Given the description of an element on the screen output the (x, y) to click on. 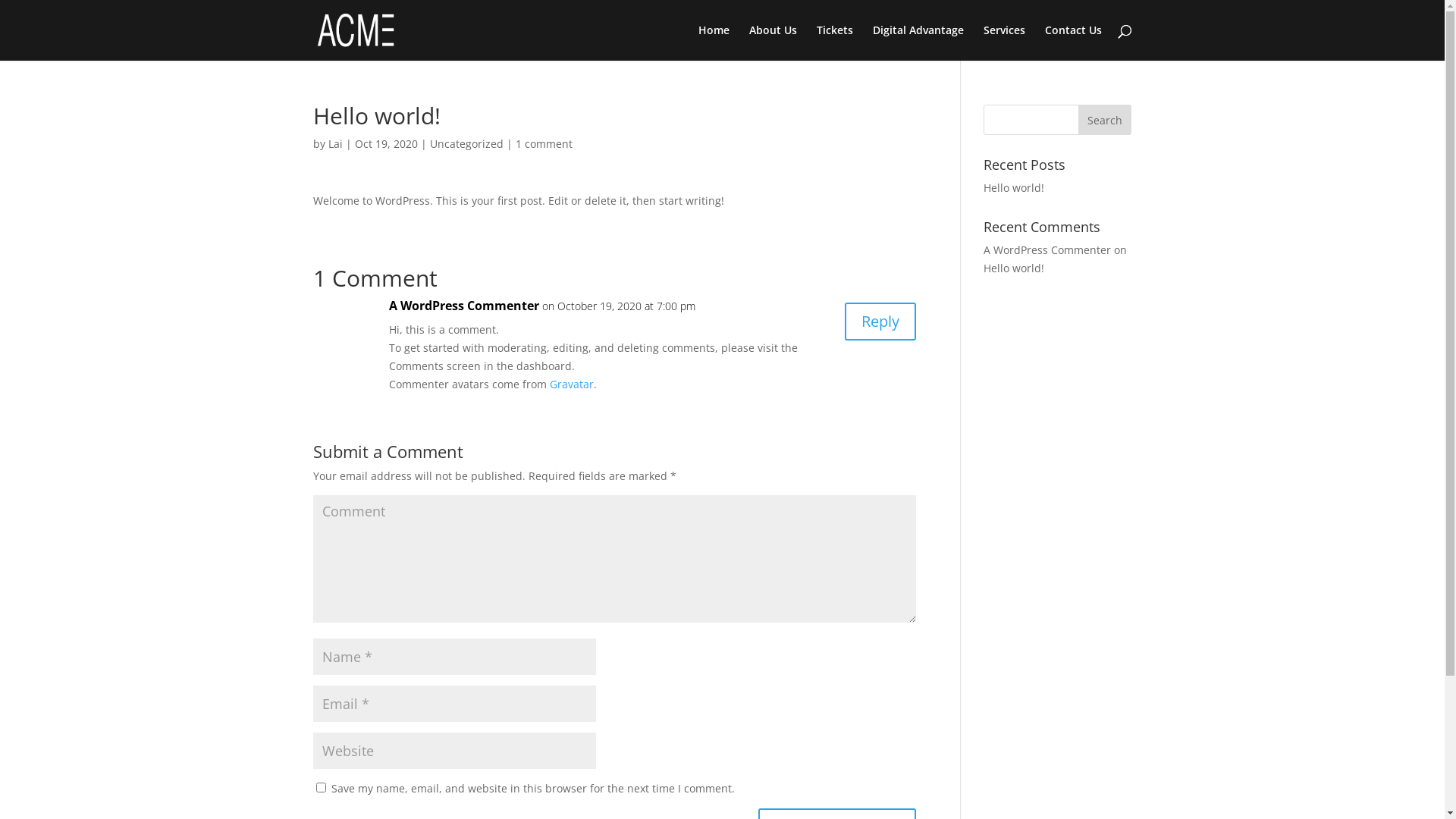
Tickets Element type: text (833, 42)
Services Element type: text (1003, 42)
Digital Advantage Element type: text (917, 42)
About Us Element type: text (773, 42)
Home Element type: text (712, 42)
Reply Element type: text (880, 321)
Hello world! Element type: text (1013, 187)
Contact Us Element type: text (1072, 42)
Uncategorized Element type: text (465, 143)
A WordPress Commenter Element type: text (1046, 249)
1 comment Element type: text (543, 143)
A WordPress Commenter Element type: text (463, 306)
Gravatar Element type: text (571, 383)
Search Element type: text (1104, 119)
Lai Element type: text (334, 143)
Hello world! Element type: text (1013, 267)
